Given the description of an element on the screen output the (x, y) to click on. 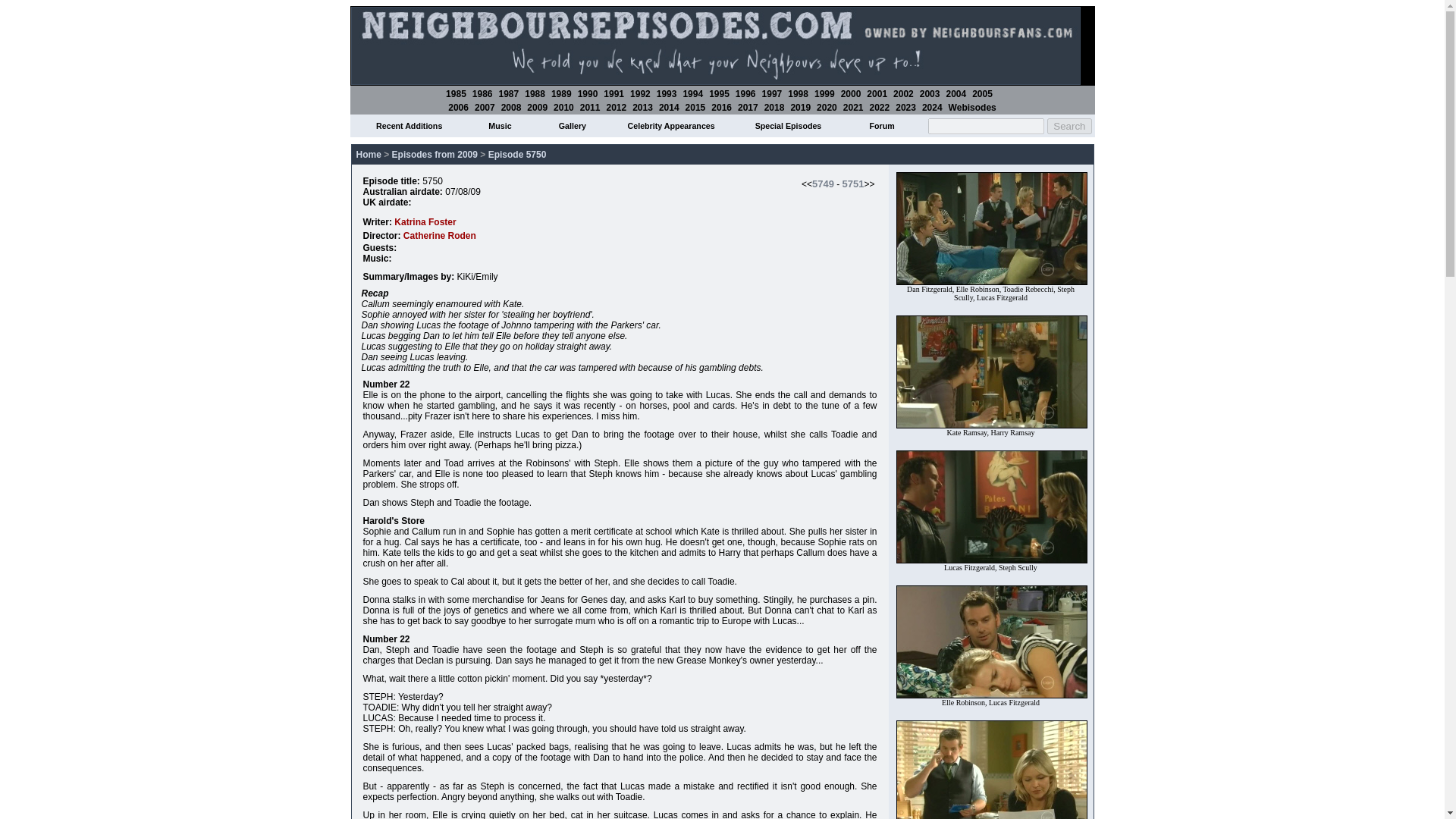
2011 (589, 107)
1987 (509, 93)
2004 (955, 93)
1990 (588, 93)
2008 (510, 107)
2022 (879, 107)
2020 (826, 107)
2016 (721, 107)
1999 (823, 93)
1996 (745, 93)
2013 (641, 107)
1986 (482, 93)
2023 (905, 107)
2005 (982, 93)
2007 (484, 107)
